Given the description of an element on the screen output the (x, y) to click on. 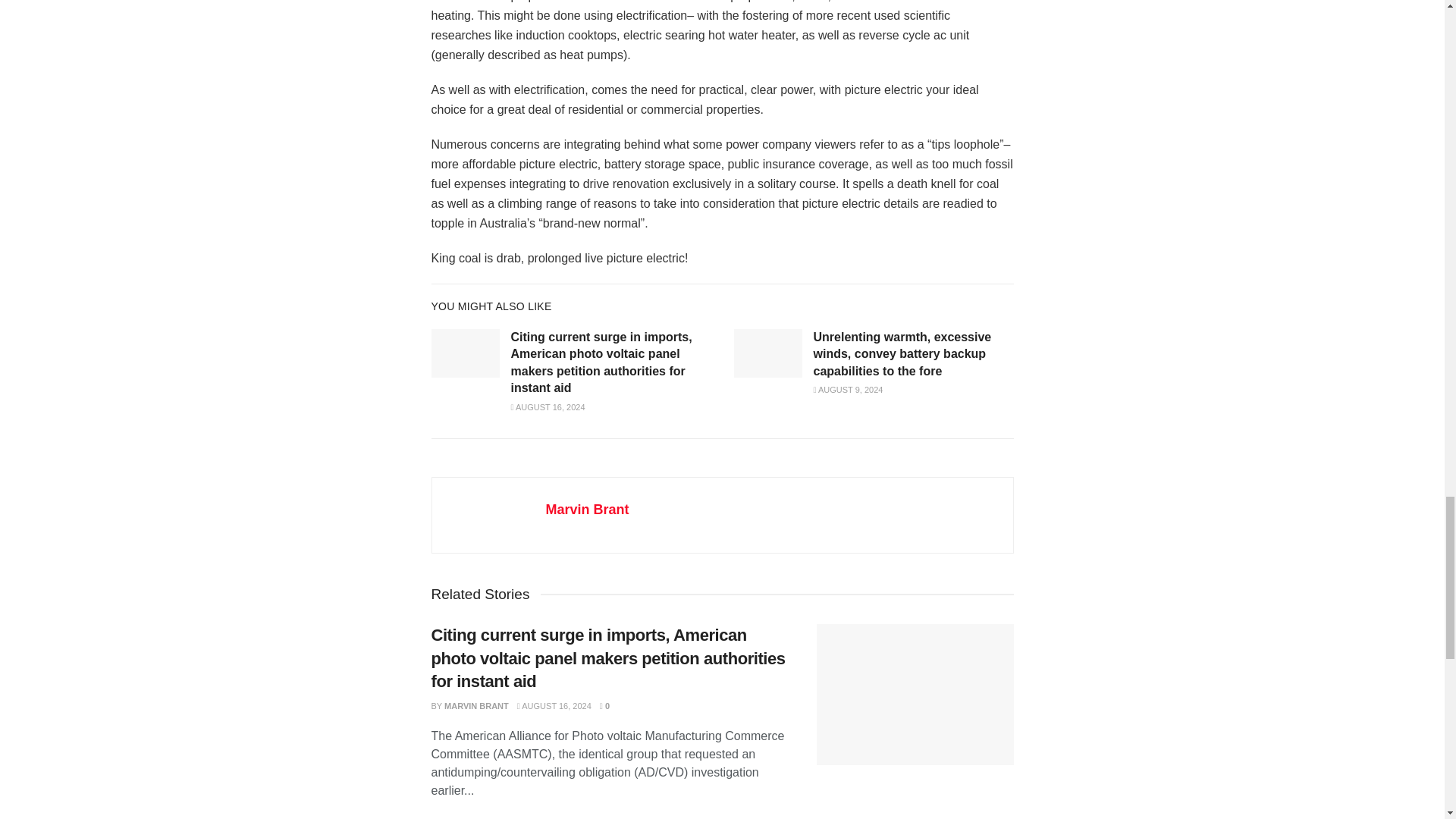
AUGUST 16, 2024 (548, 406)
AUGUST 9, 2024 (847, 388)
